Given the description of an element on the screen output the (x, y) to click on. 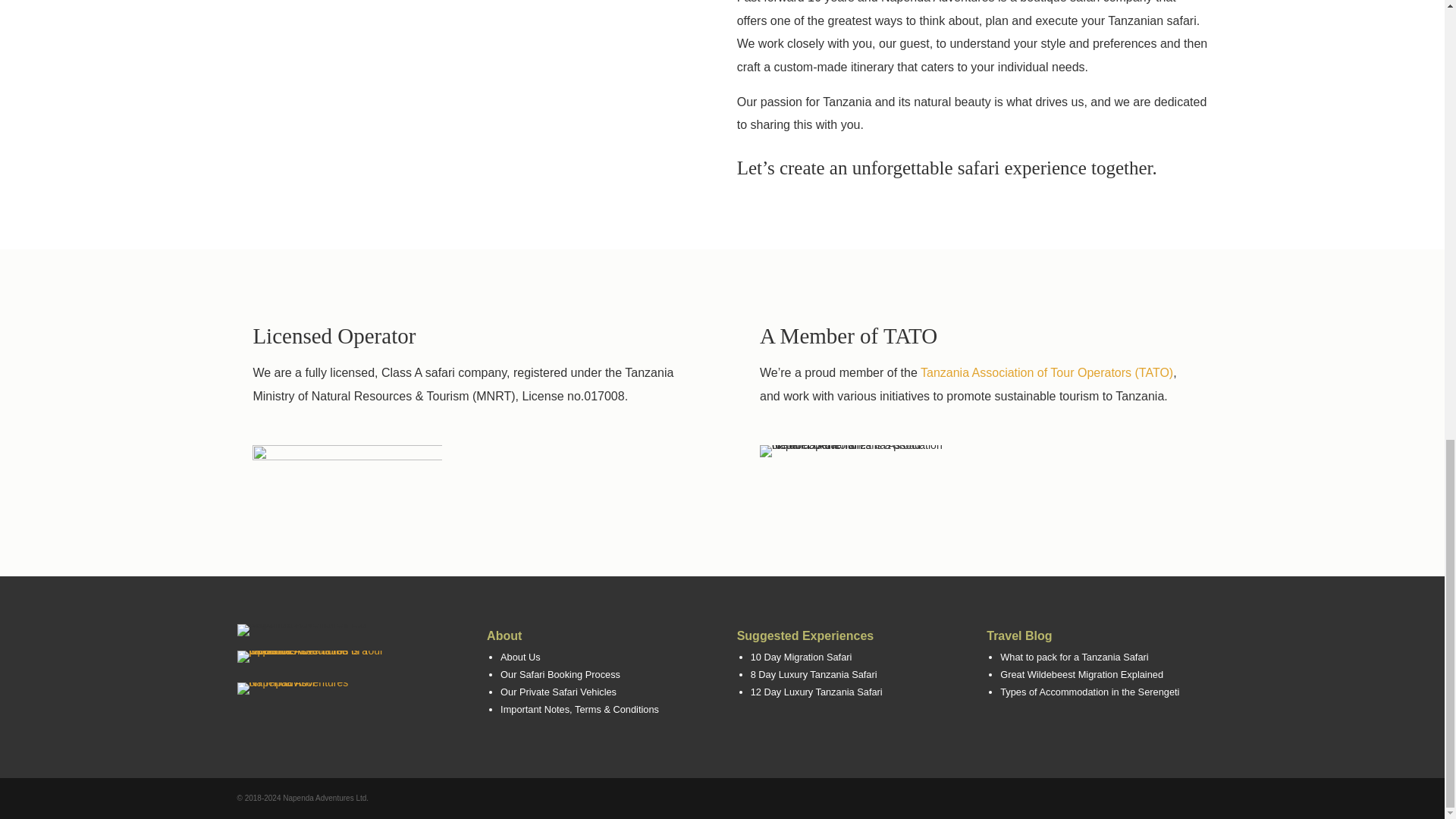
8 Day Luxury Tanzania Safari (814, 674)
What to pack for a Tanzania Safari (1074, 656)
Great Wildebeest Migration Explained (1081, 674)
Our Safari Booking Process (560, 674)
Napenda Adventures on Tripadvisor (292, 688)
12 Day Luxury Tanzania Safari (816, 691)
Our Private Safari Vehicles (557, 691)
About Us (520, 656)
Types of Accommodation in the Serengeti (1089, 691)
Travel Blog (1019, 635)
10 Day Migration Safari (801, 656)
Napenda Adventures Ltd Logo (311, 630)
MNRT-License-for-Napenda-Adventures (346, 474)
